Given the description of an element on the screen output the (x, y) to click on. 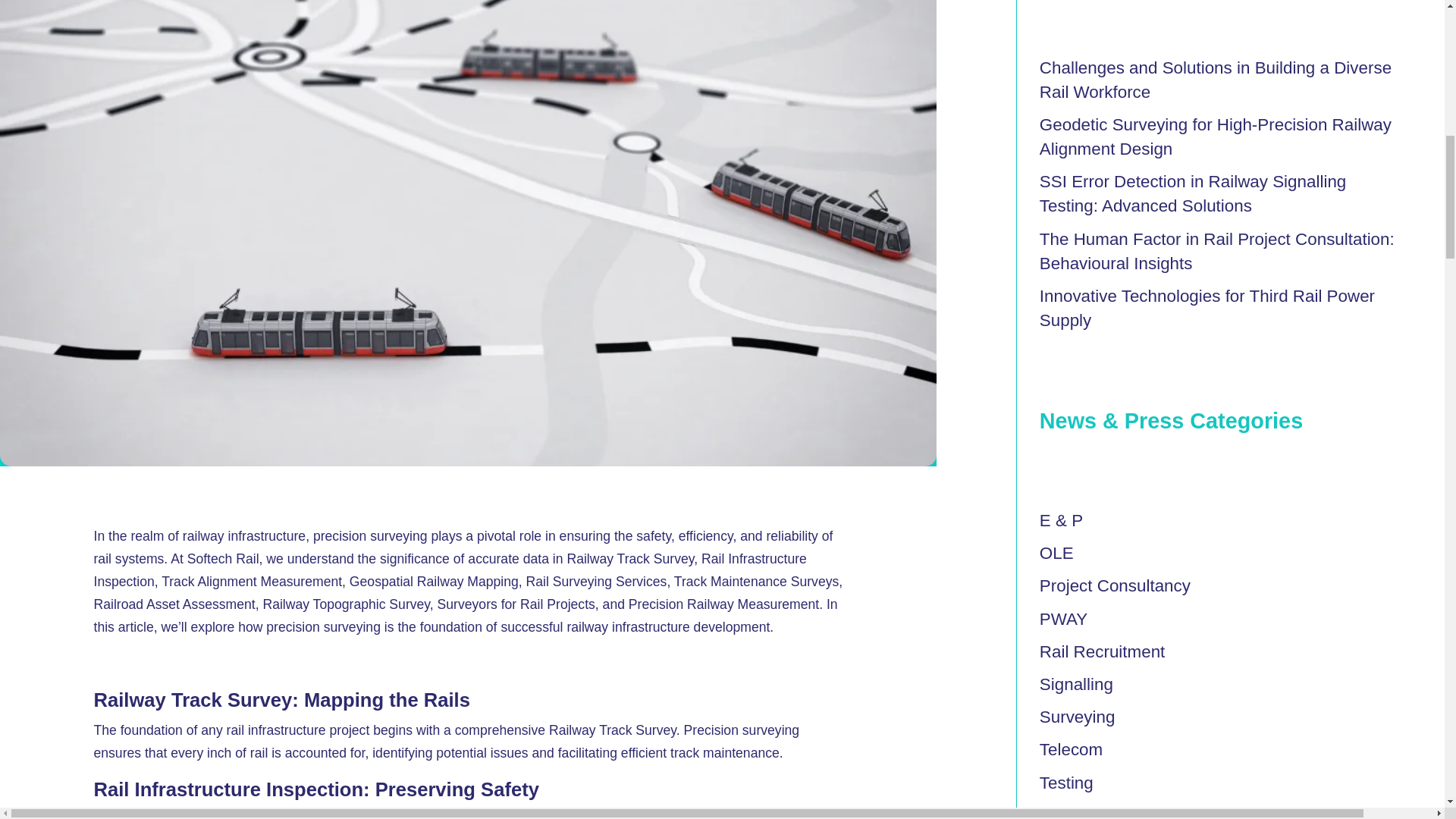
Surveying (1077, 716)
Third Rail (1075, 812)
Testing (1066, 782)
OLE (1056, 552)
Signalling (1076, 683)
Rail Recruitment (1102, 651)
Telecom (1070, 749)
Project Consultancy (1115, 585)
PWAY (1063, 618)
Innovative Technologies for Third Rail Power Supply (1206, 308)
